Given the description of an element on the screen output the (x, y) to click on. 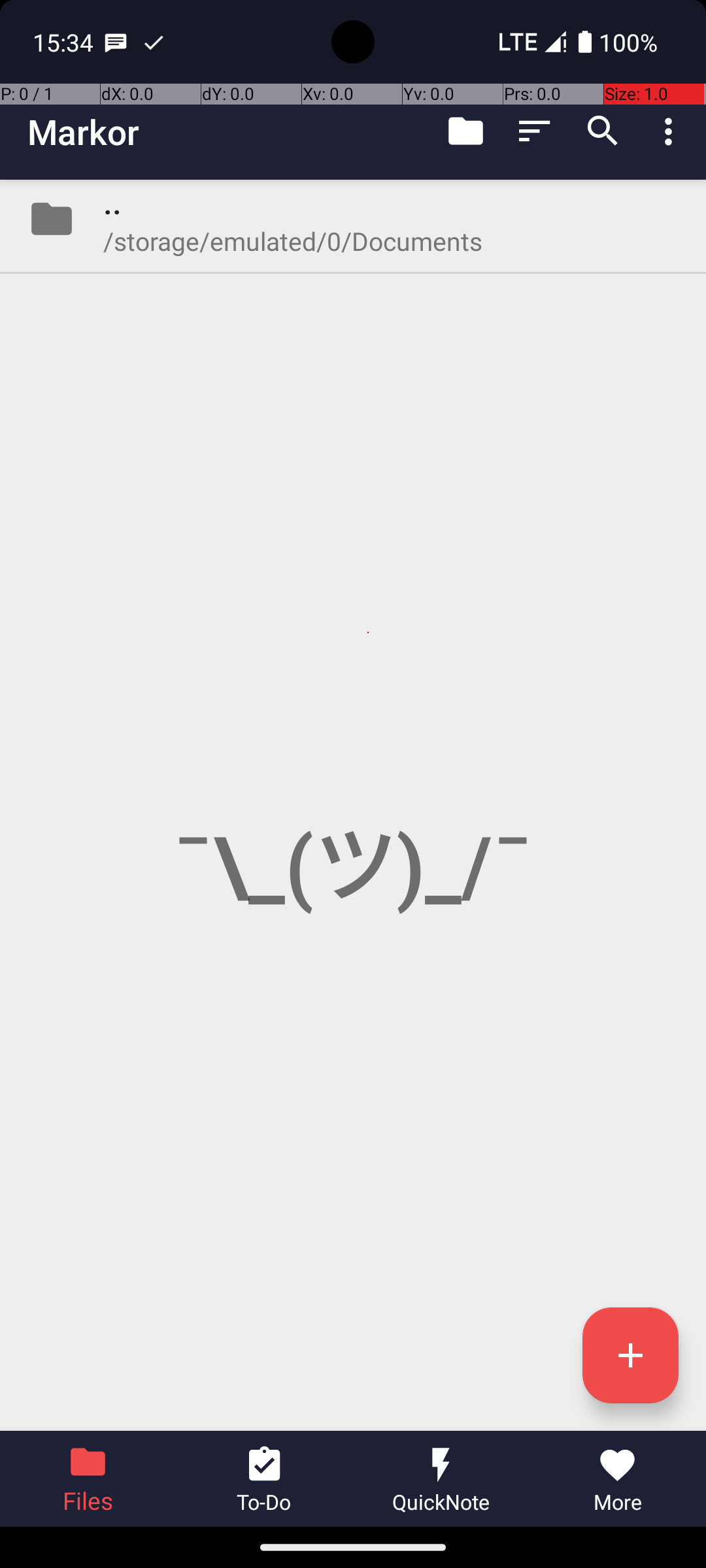
SMS Messenger notification: Daniel Ali Element type: android.widget.ImageView (115, 41)
